Given the description of an element on the screen output the (x, y) to click on. 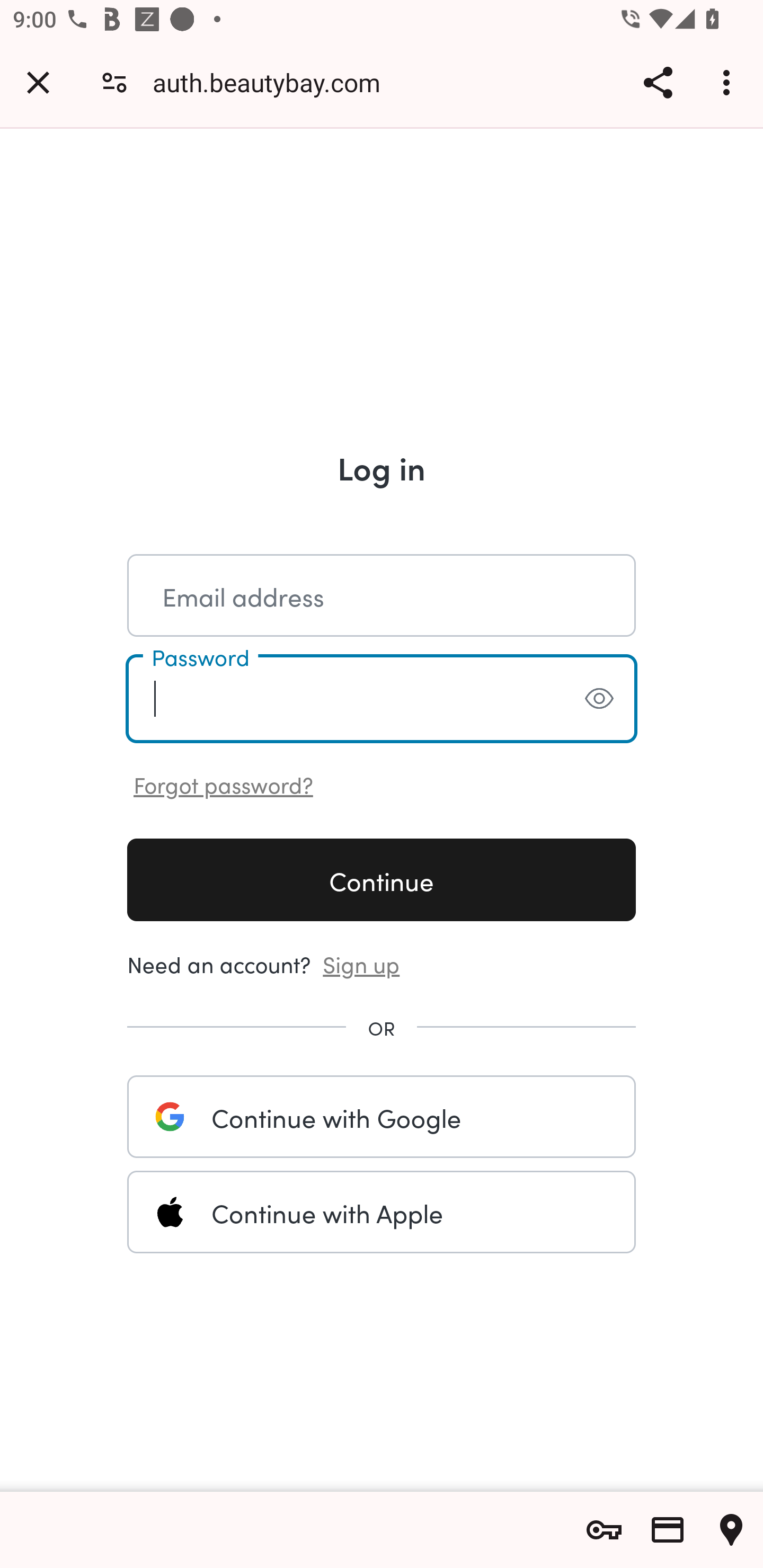
Close tab (38, 82)
Share (657, 82)
Customize and control Google Chrome (729, 82)
Connection is secure (114, 81)
auth.beautybay.com (272, 81)
Show password (599, 698)
Forgot password? (223, 782)
Continue (381, 879)
Sign up (361, 962)
Continue with Google (381, 1116)
Continue with Apple (381, 1211)
Show saved passwords and password options (603, 1530)
Show saved payment methods (667, 1530)
Show saved addresses (731, 1530)
